Given the description of an element on the screen output the (x, y) to click on. 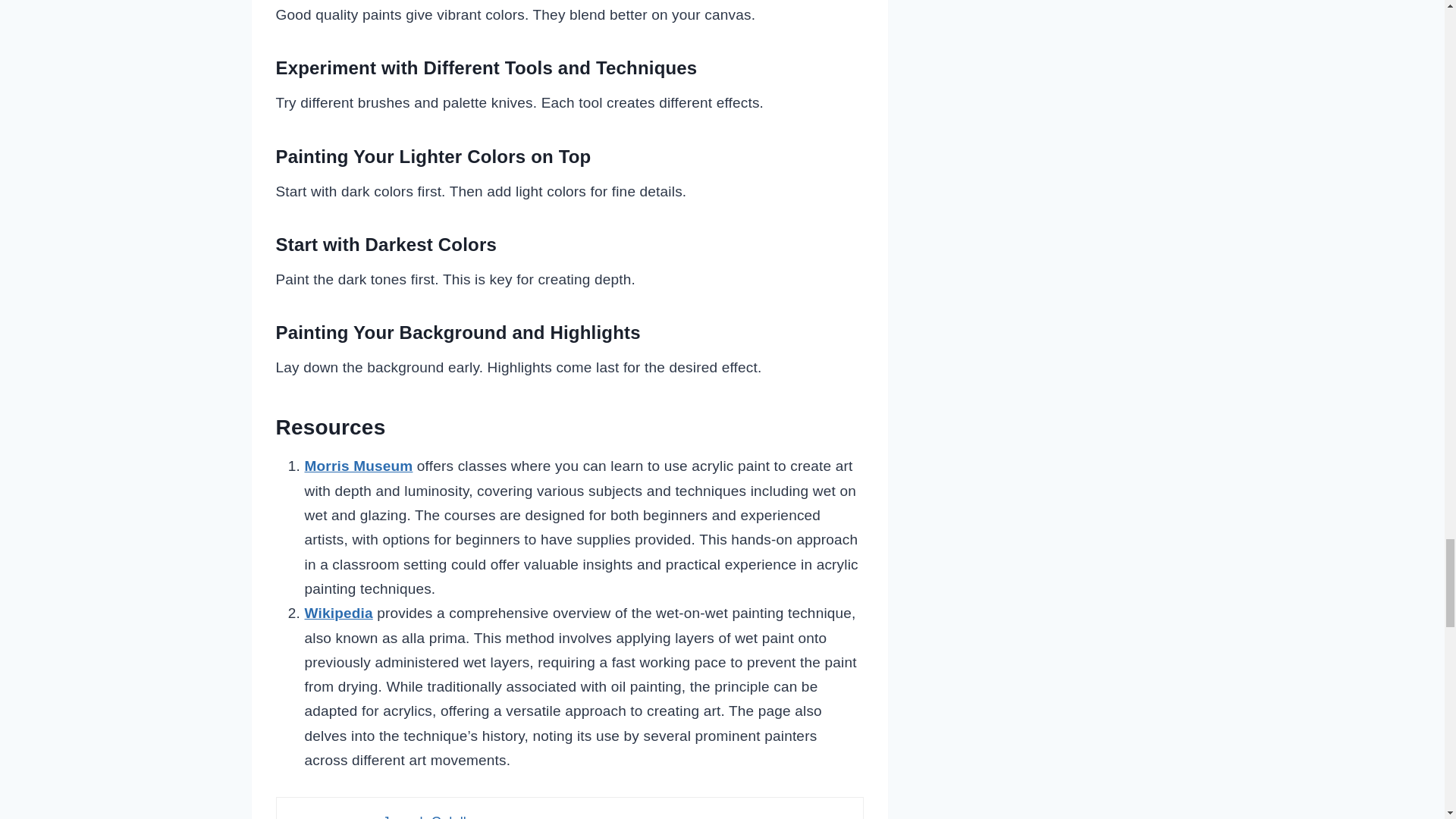
Joseph Colella (427, 816)
Morris Museum (358, 465)
Wikipedia (338, 612)
